Given the description of an element on the screen output the (x, y) to click on. 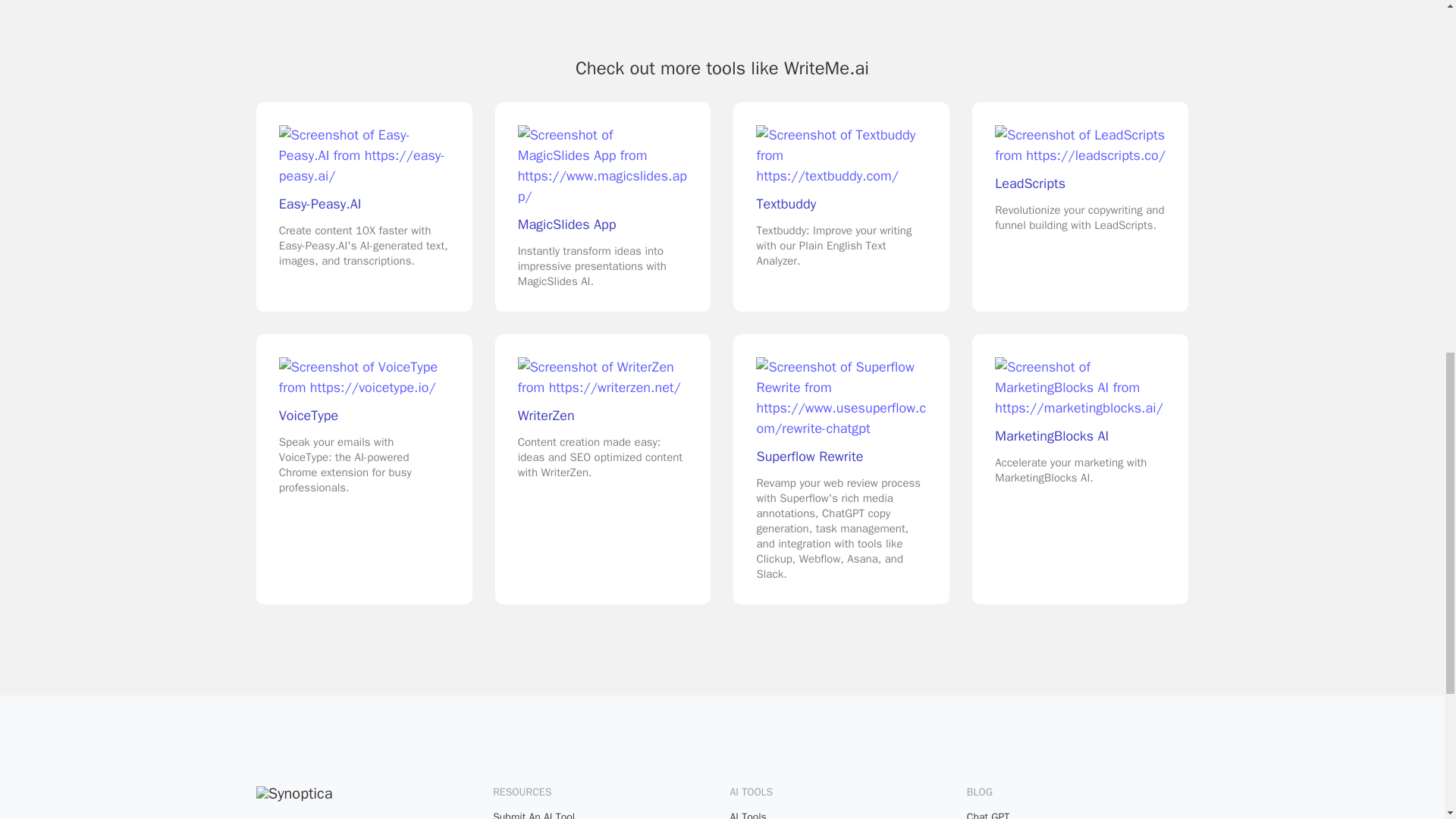
Submit An AI Tool (603, 814)
